Given the description of an element on the screen output the (x, y) to click on. 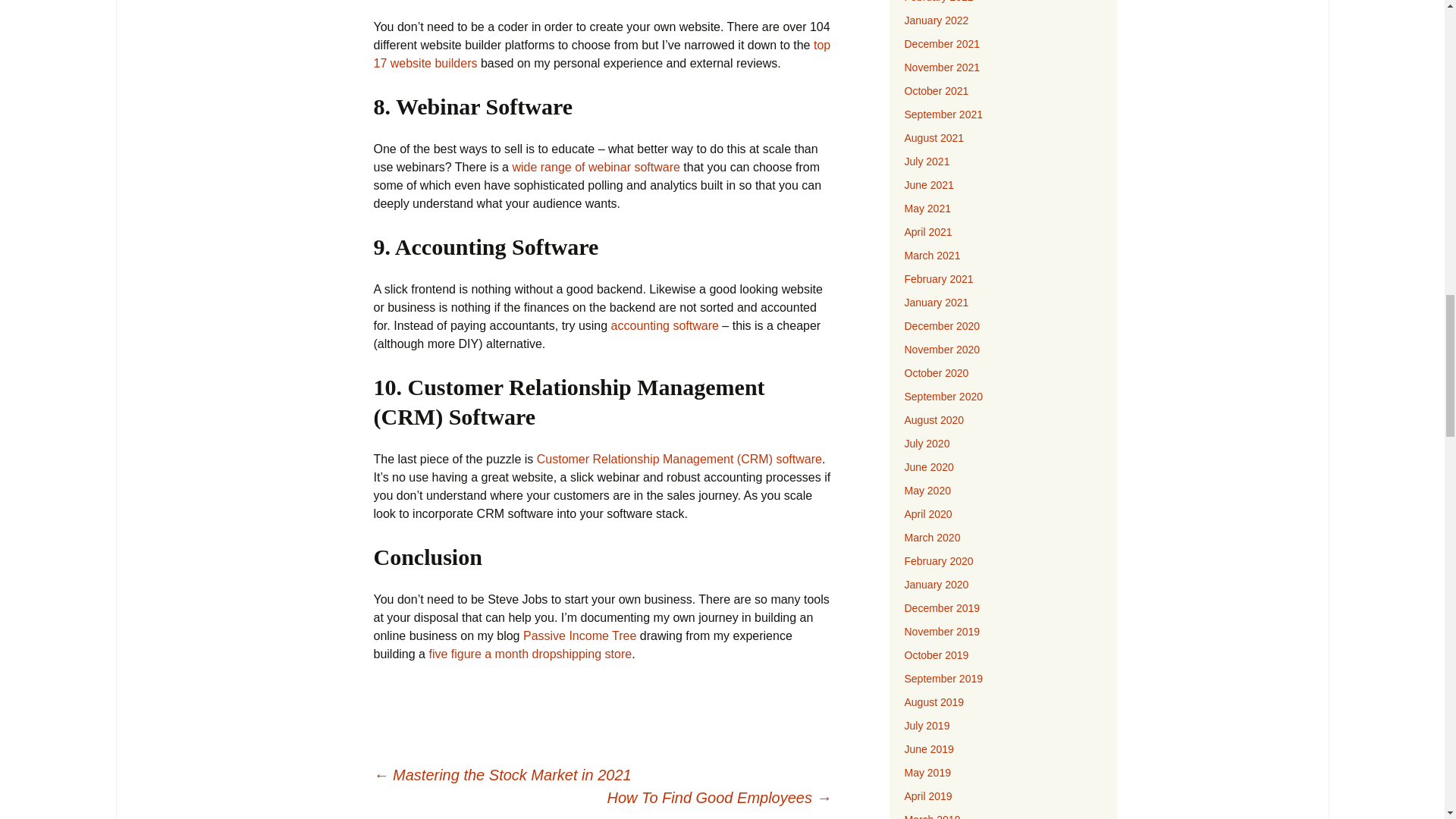
wide range of webinar software (597, 166)
five figure a month dropshipping store (529, 653)
top 17 website builders (600, 53)
accounting software (665, 325)
Passive Income Tree (579, 635)
